Given the description of an element on the screen output the (x, y) to click on. 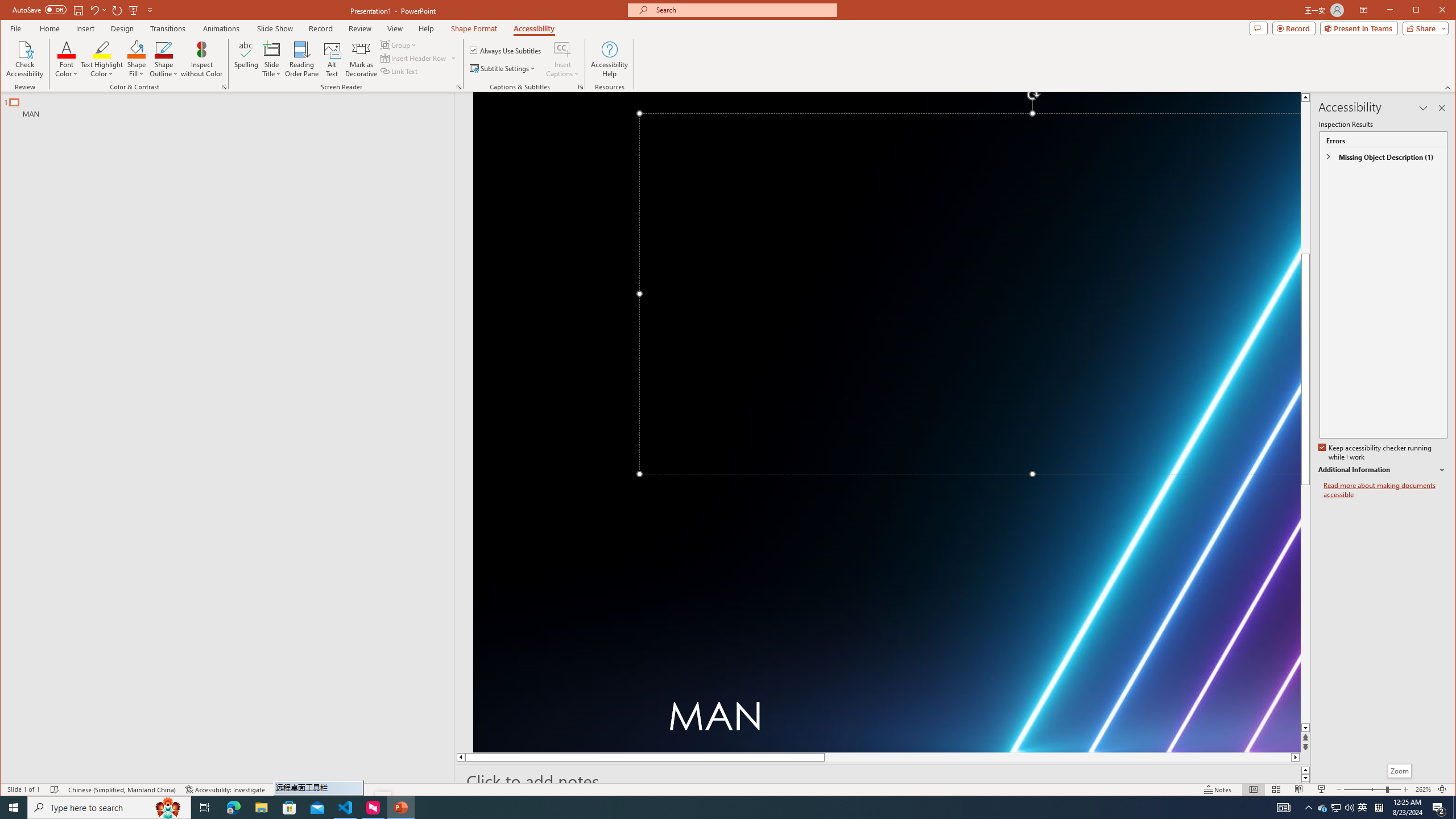
File Explorer (261, 807)
Check Accessibility (25, 59)
Shape Fill Orange, Accent 2 (136, 48)
Redo (117, 9)
Microsoft Store (289, 807)
Line down (1305, 728)
From Beginning (1362, 807)
Mark as Decorative (133, 9)
Accessibility (360, 59)
Animations (534, 28)
Quick Access Toolbar (221, 28)
Shape Outline (83, 9)
Insert (163, 59)
